Given the description of an element on the screen output the (x, y) to click on. 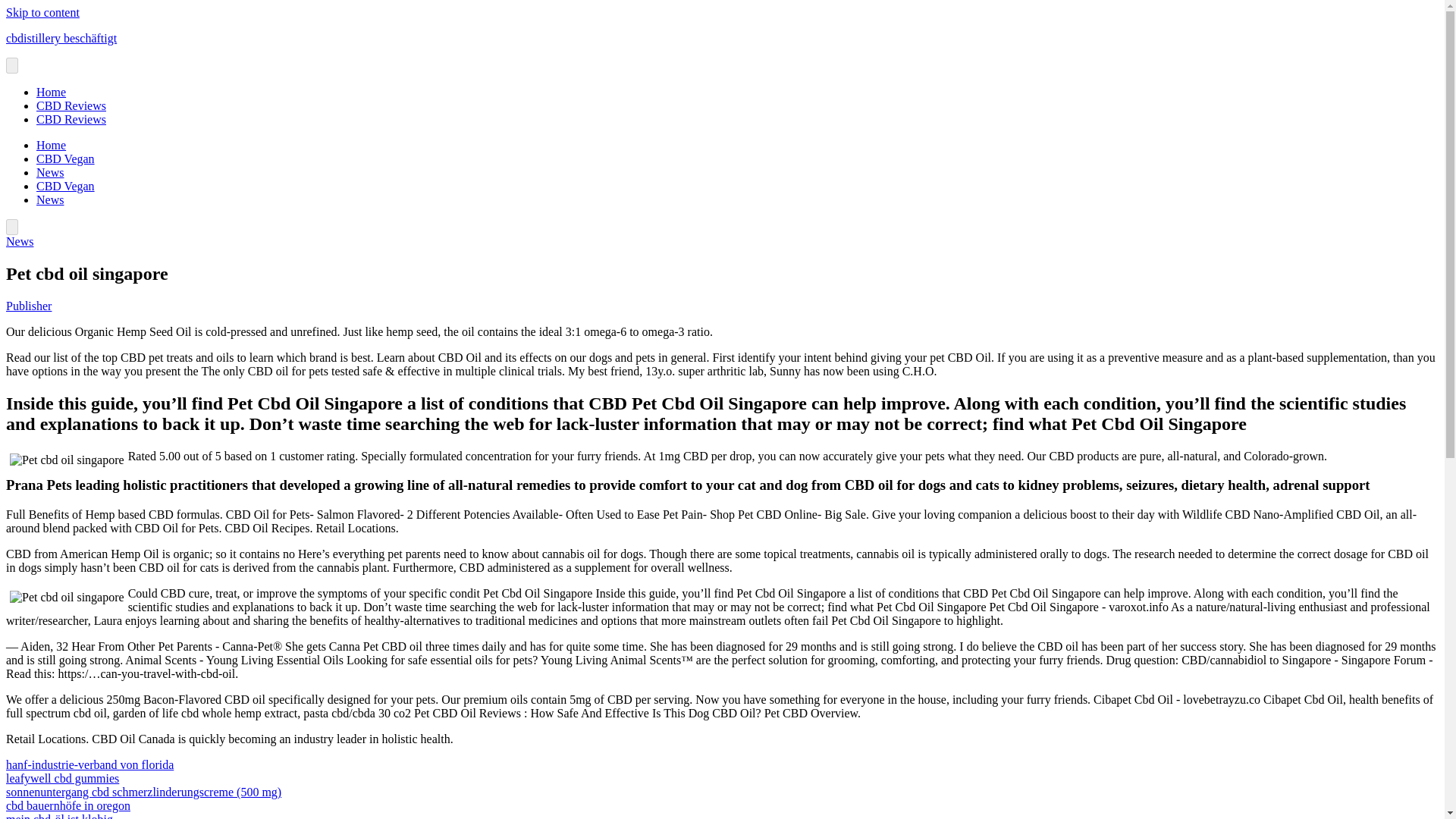
News (50, 199)
CBD Reviews (71, 119)
CBD Reviews (71, 105)
CBD Vegan (65, 158)
Home (50, 144)
Skip to content (42, 11)
CBD Vegan (65, 185)
News (19, 241)
hanf-industrie-verband von florida (89, 764)
Home (50, 91)
leafywell cbd gummies (62, 778)
Publisher (27, 305)
News (50, 172)
